Given the description of an element on the screen output the (x, y) to click on. 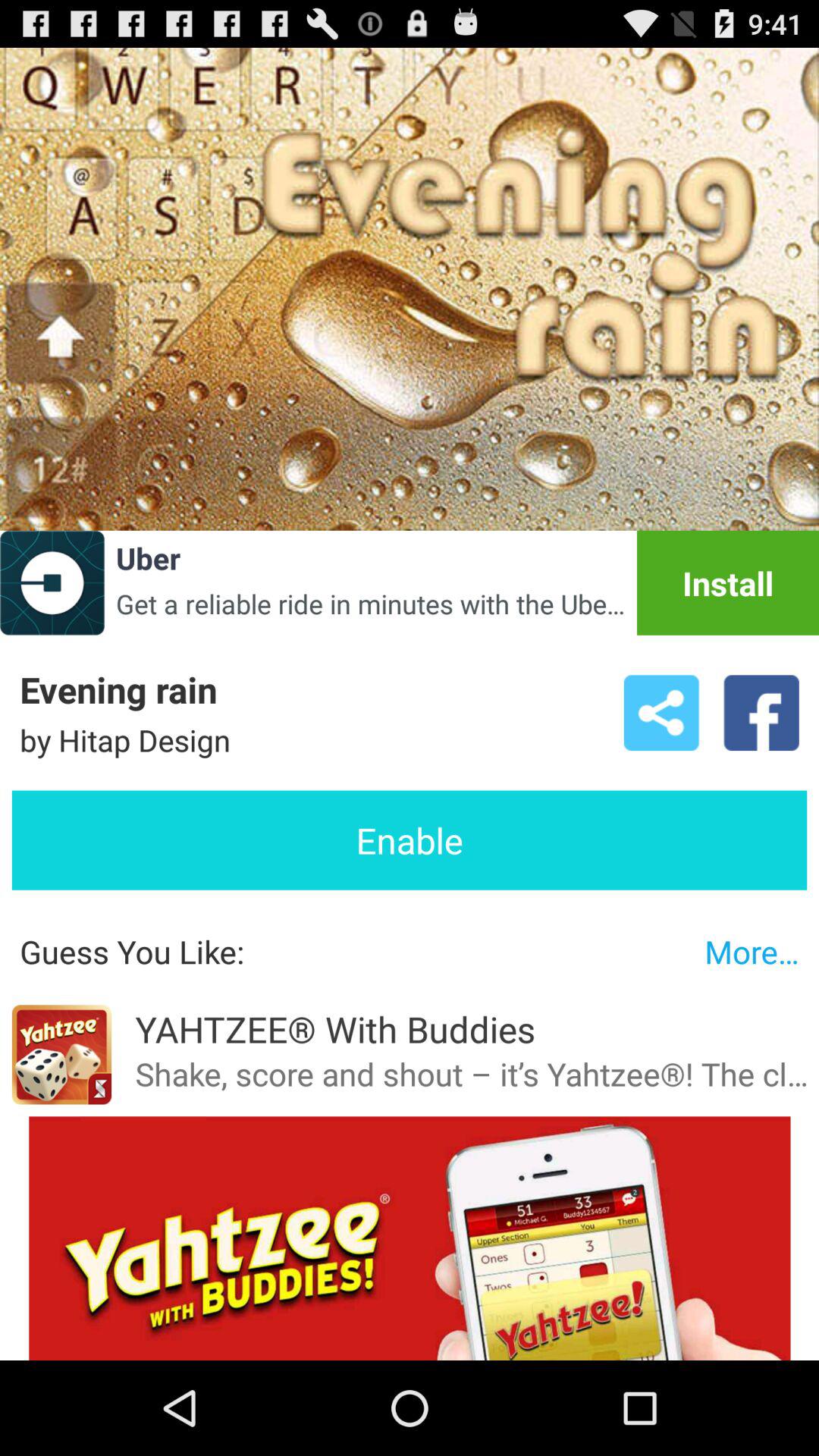
select icon above the enable button (661, 712)
